Given the description of an element on the screen output the (x, y) to click on. 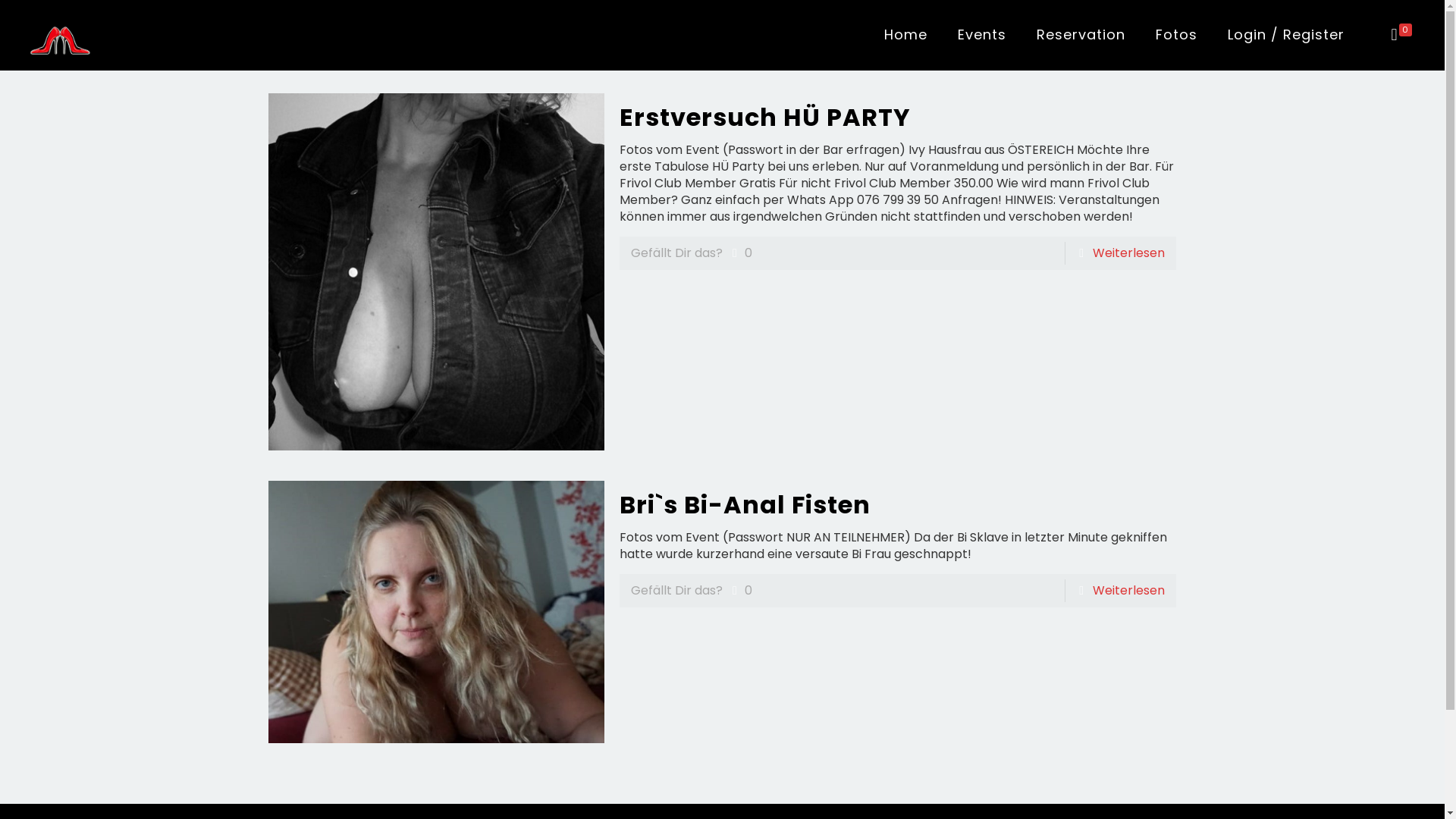
Fotos Element type: text (1176, 34)
Reservation Element type: text (1080, 34)
Home Element type: text (905, 34)
Bri`s Bi-Anal Fisten Element type: text (744, 504)
Weiterlesen Element type: text (1128, 252)
0 Element type: text (739, 590)
Login / Register Element type: text (1285, 34)
Login / Register Element type: text (1285, 34)
0 Element type: text (739, 252)
0 Element type: text (1400, 34)
Swiss Party Lounge Element type: hover (59, 34)
Weiterlesen Element type: text (1128, 590)
Events Element type: text (981, 34)
